Given the description of an element on the screen output the (x, y) to click on. 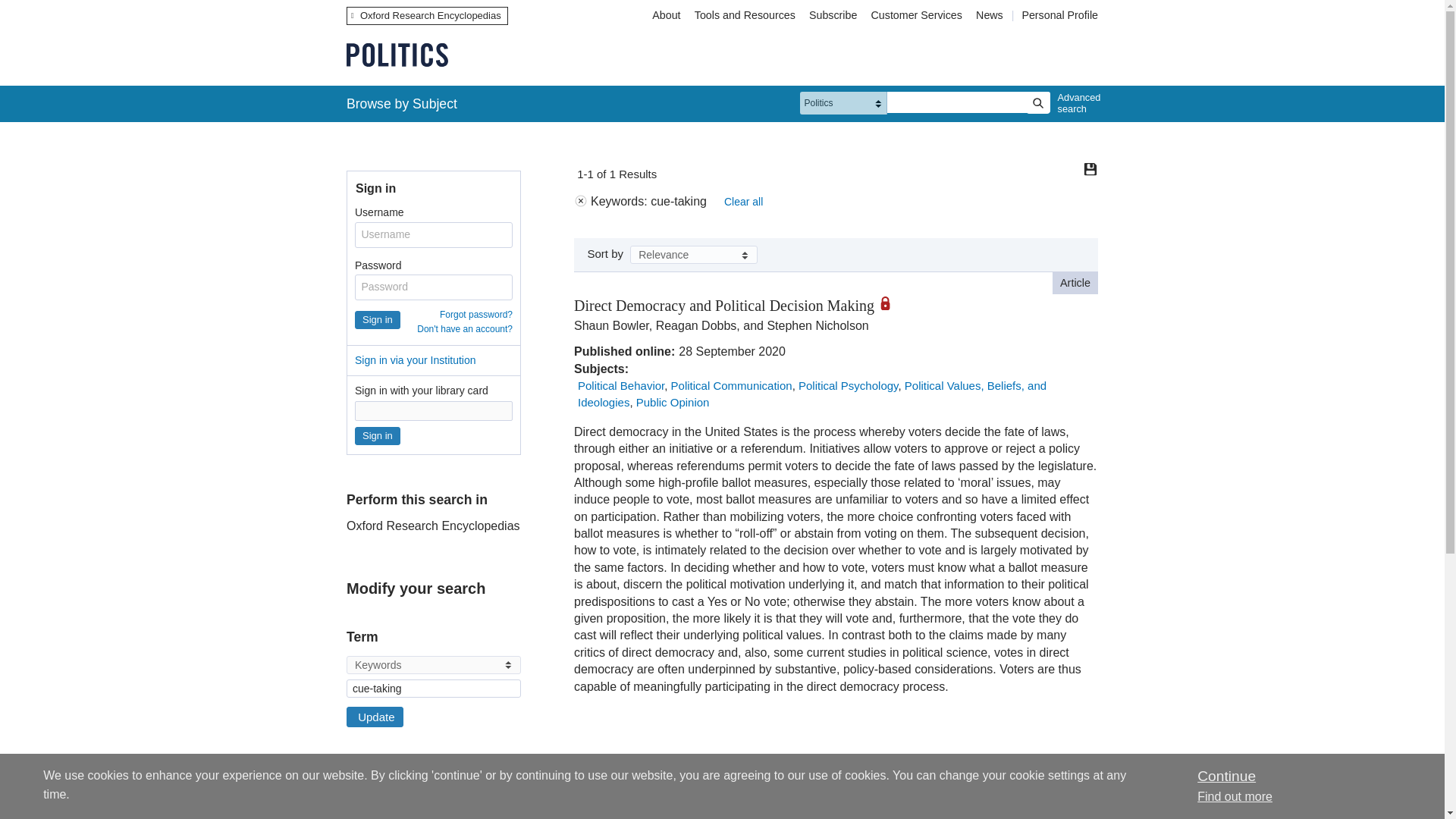
Personal Profile (1059, 15)
Sign in (377, 320)
Search (1037, 102)
Subscribe (832, 15)
Save (1090, 168)
Subject Reference (351, 809)
Advanced search (1075, 103)
Continue (1225, 775)
Search (1037, 102)
About (665, 15)
How we use cookies on this site (1234, 796)
Oxford Research Encyclopedias (427, 15)
Sign in (377, 434)
Close this message (1225, 775)
cue-taking (433, 688)
